Given the description of an element on the screen output the (x, y) to click on. 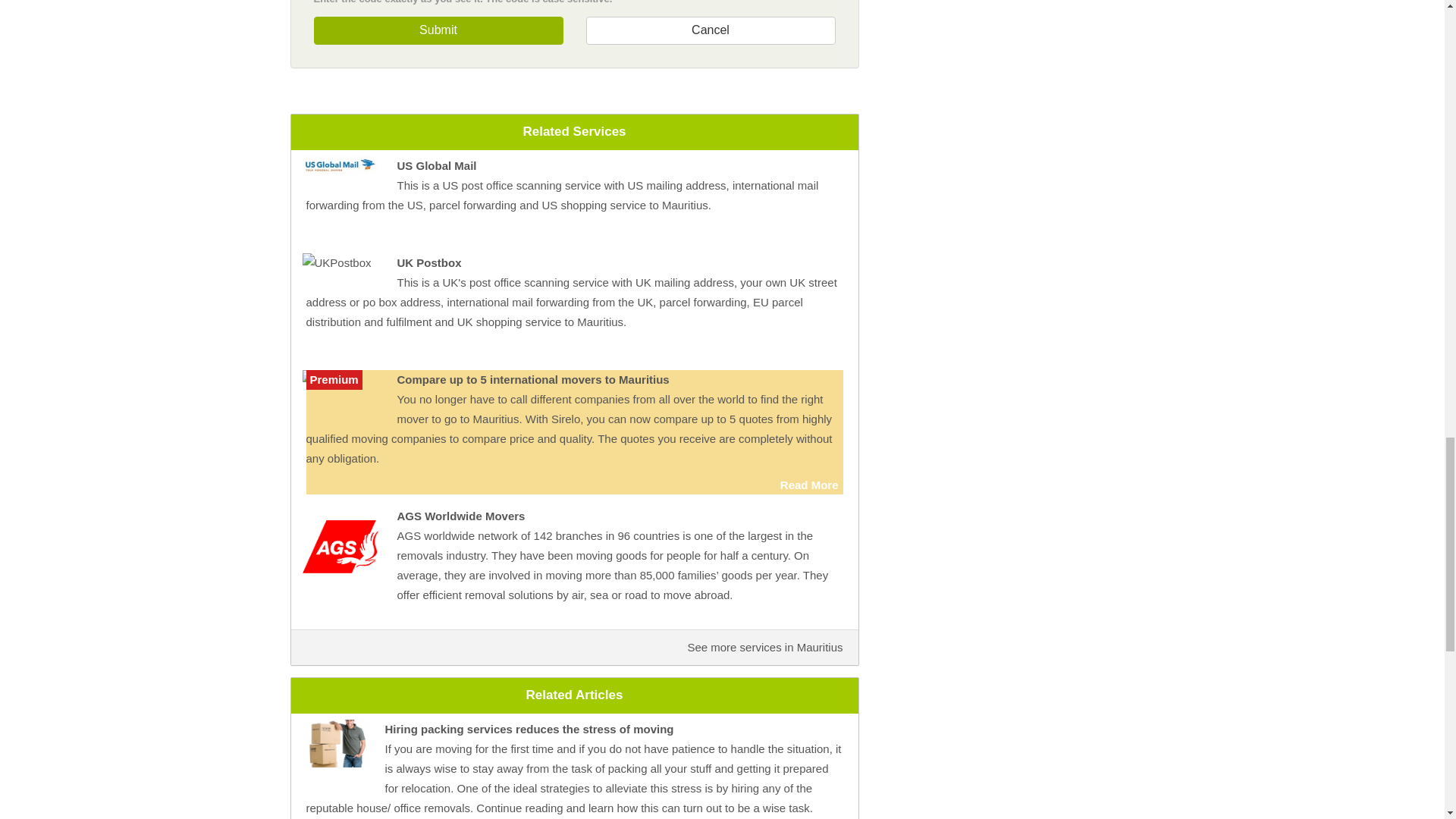
Submit (438, 30)
See more services in Mauritius (765, 646)
Cancel (709, 30)
Submit (438, 30)
